Given the description of an element on the screen output the (x, y) to click on. 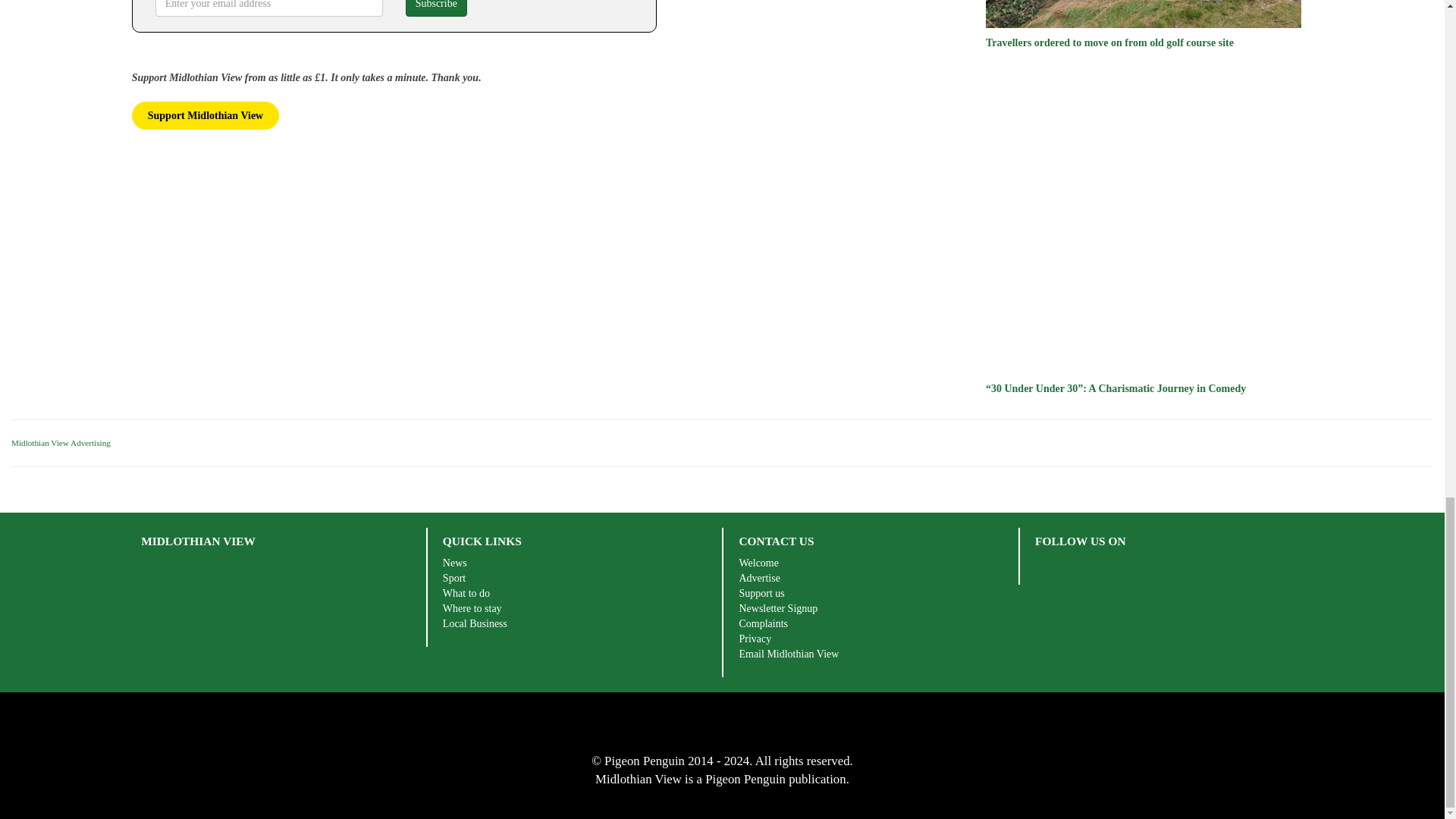
Subscribe (436, 8)
